Given the description of an element on the screen output the (x, y) to click on. 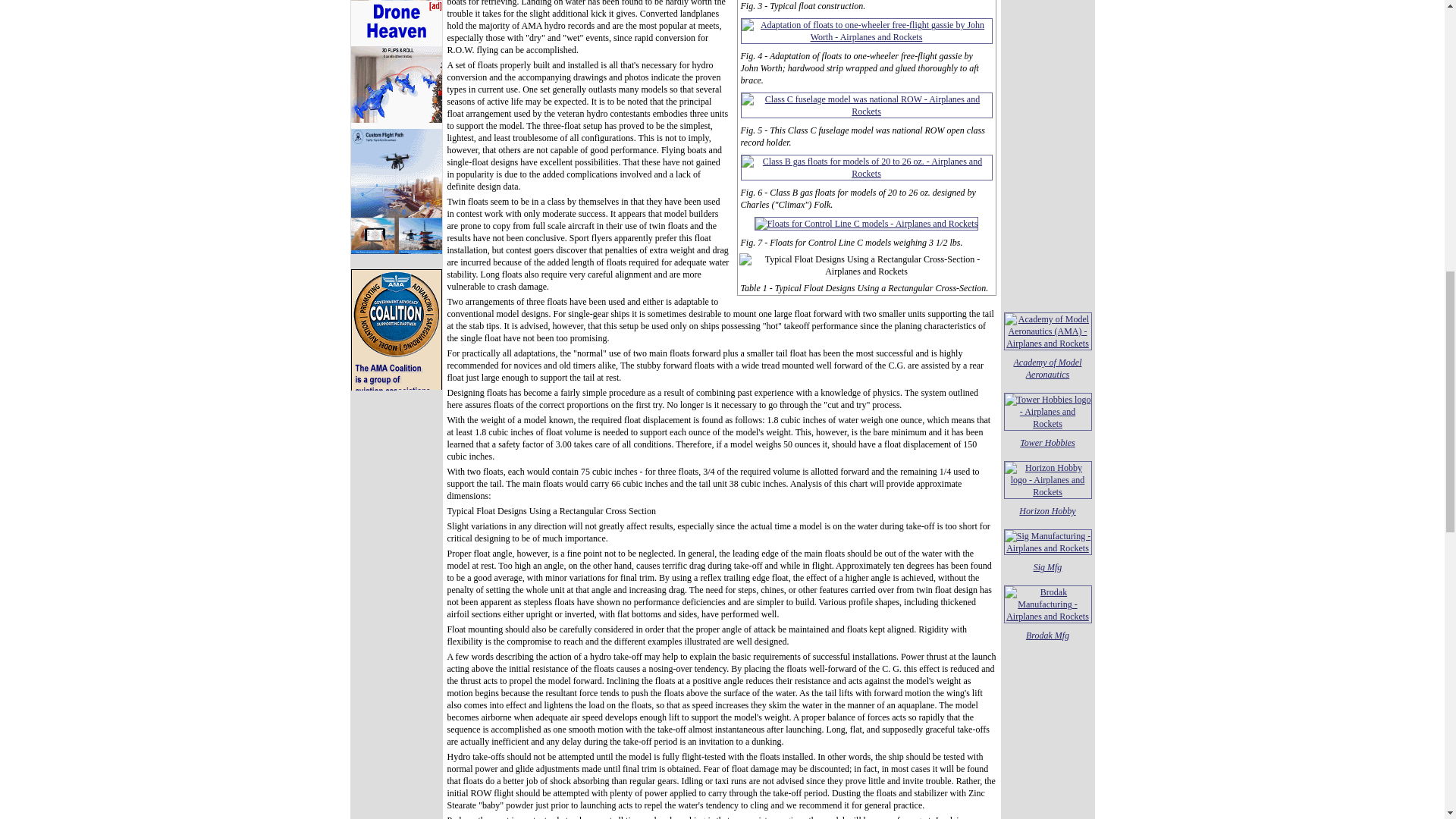
Sig Mfg (1047, 566)
Tower Hobbies (1047, 442)
Academy of Model Aeronautics (1047, 368)
Horizon Hobby (1047, 511)
Brodak Mfg (1047, 634)
